Given the description of an element on the screen output the (x, y) to click on. 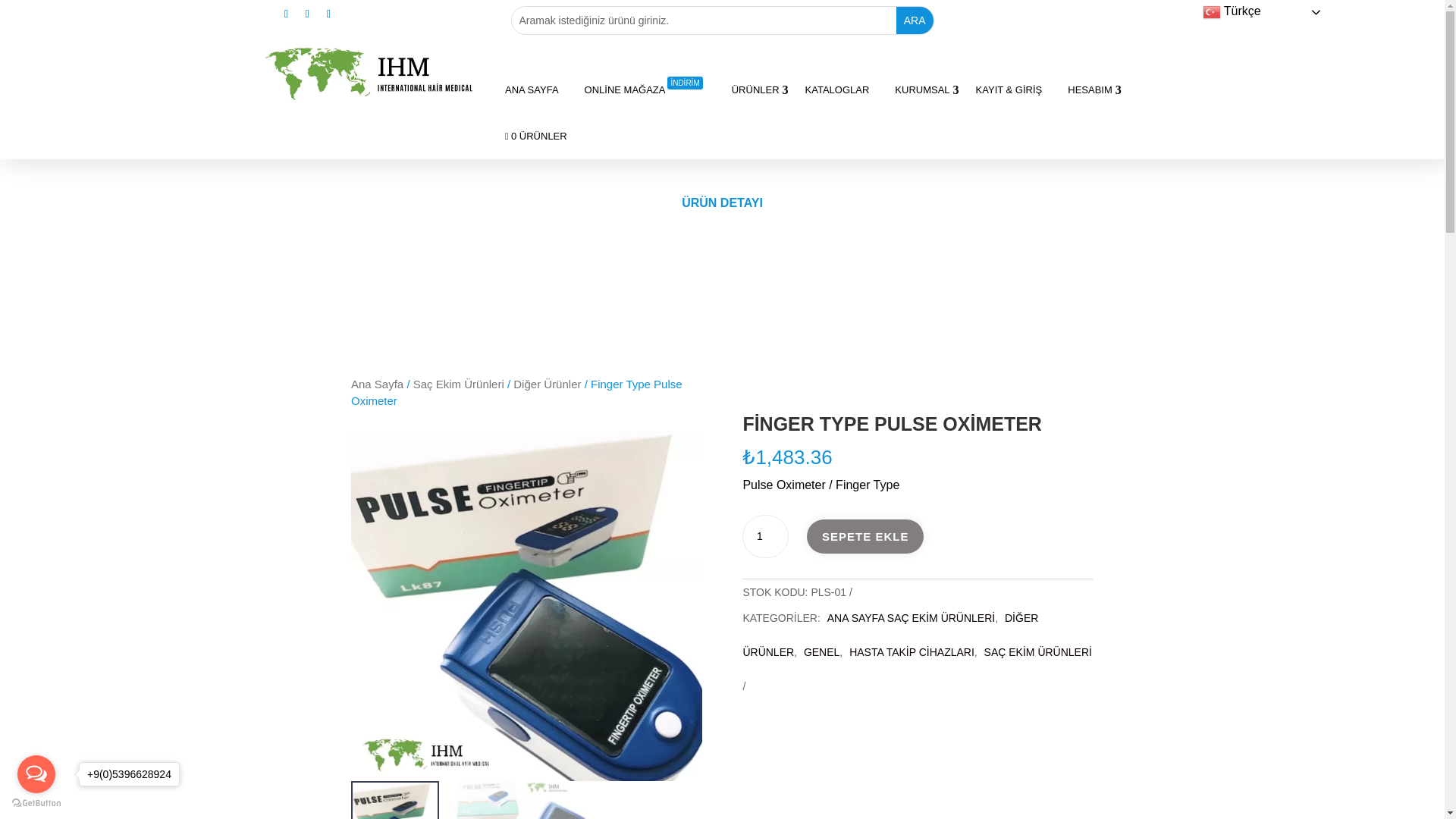
X izleyin (307, 12)
Facebook izleyin (286, 12)
puls-oximeter-spo2 (876, 606)
ANA SAYFA (531, 90)
logo-v1 (331, 61)
KATALOGLAR (837, 90)
puls-oximeter-ihm (525, 606)
KURUMSAL (921, 90)
Ara (914, 20)
1 (764, 536)
Instagram izleyin (328, 12)
Ara (914, 20)
Ara (914, 20)
